Given the description of an element on the screen output the (x, y) to click on. 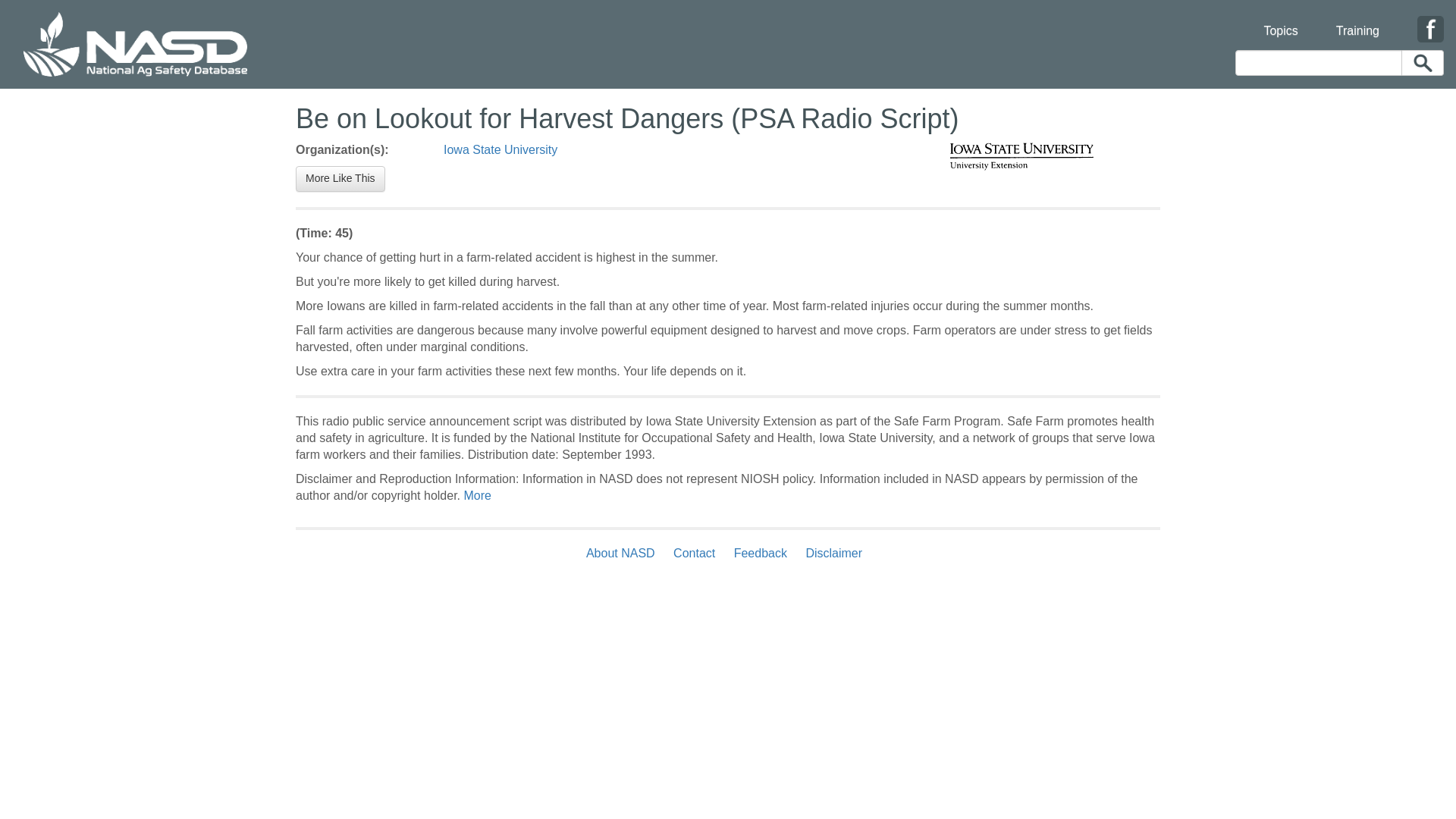
More (476, 495)
More Like This (340, 178)
Topics (1280, 21)
Iowa State University (500, 149)
About NASD (624, 552)
Training (1357, 21)
Contact (693, 552)
Disclaimer (833, 552)
Feedback (760, 552)
